Given the description of an element on the screen output the (x, y) to click on. 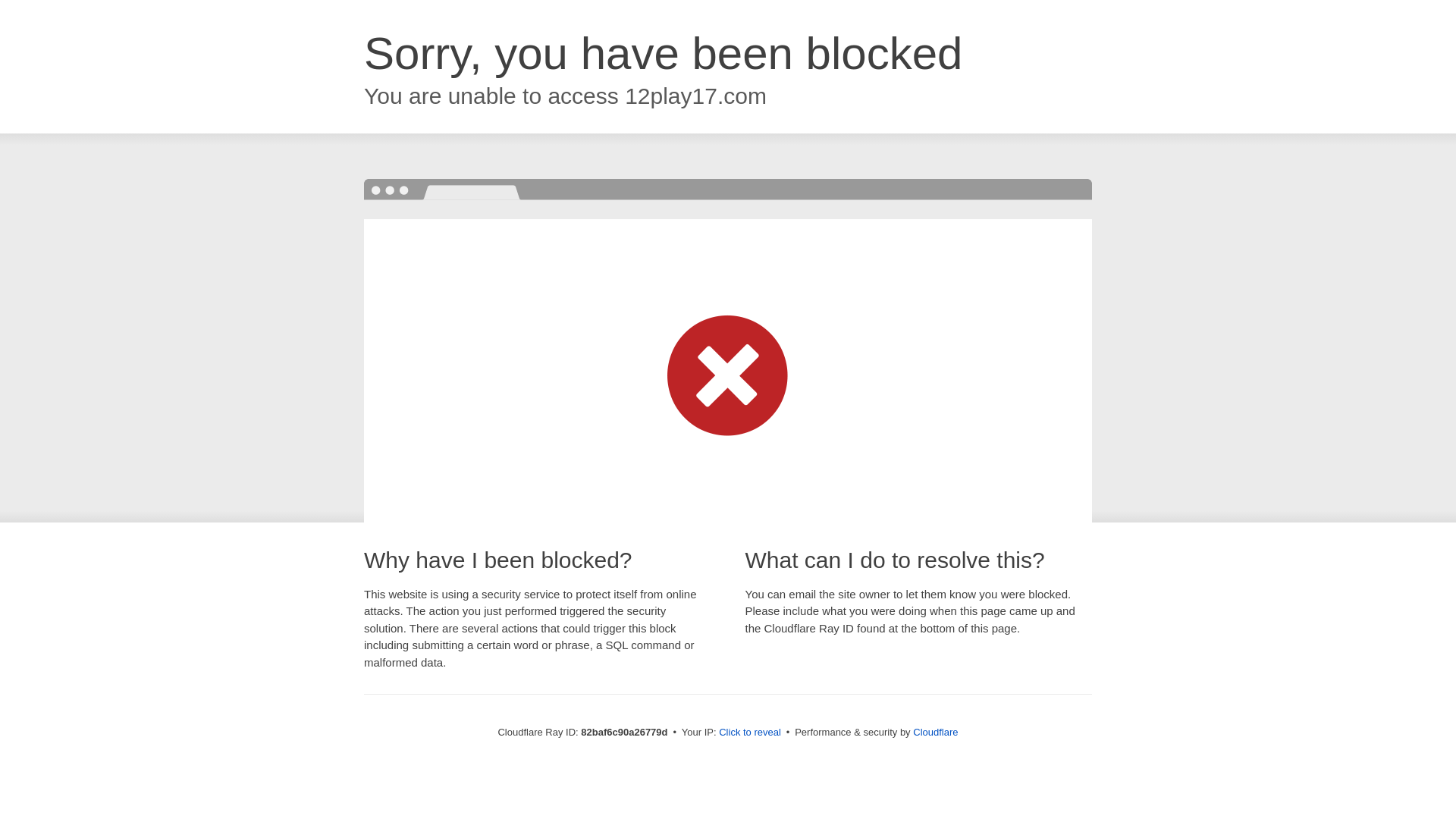
Click to reveal Element type: text (749, 732)
Cloudflare Element type: text (935, 731)
